Given the description of an element on the screen output the (x, y) to click on. 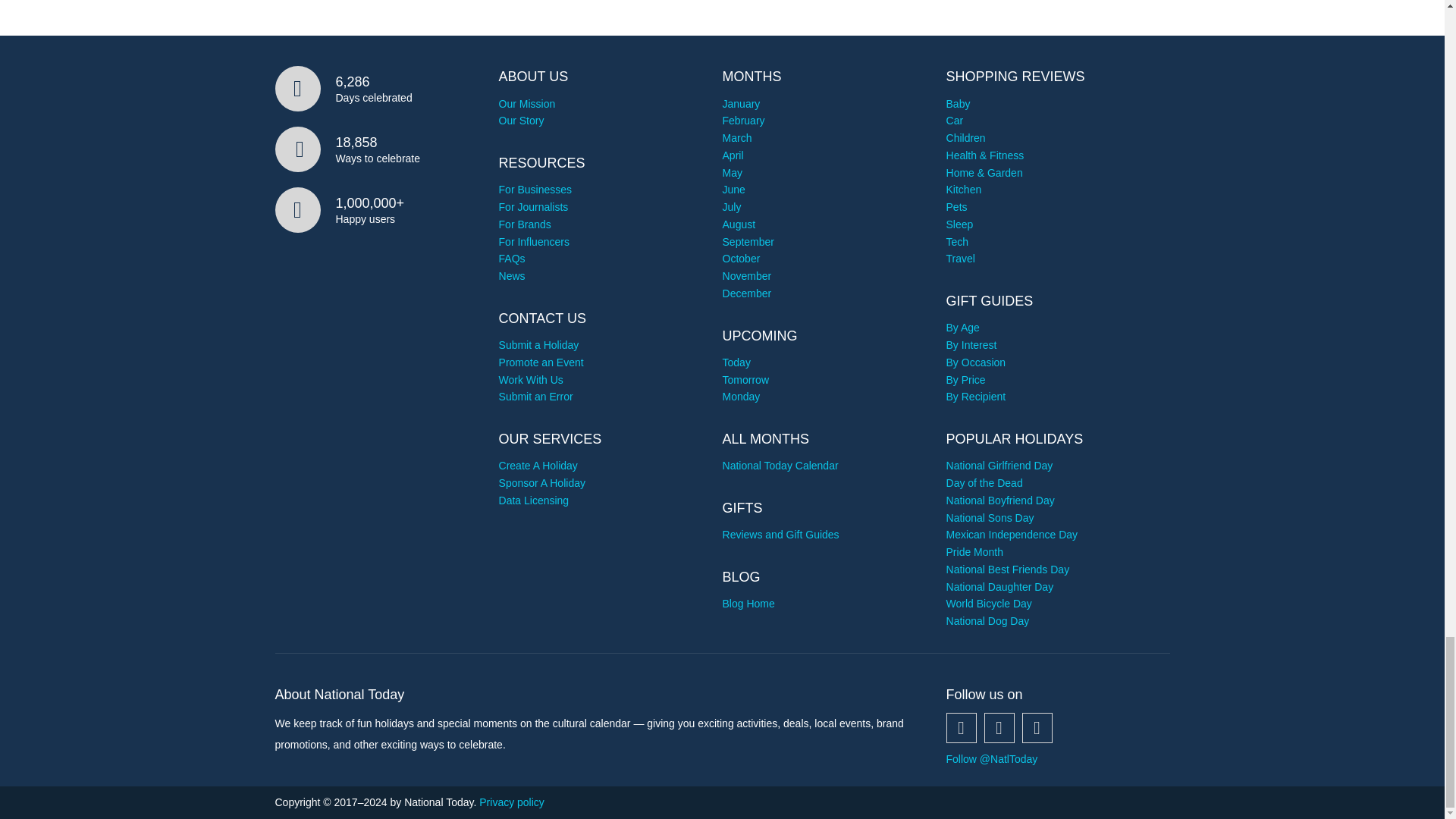
Follow us on Twitter (999, 727)
Follow us on Instagram (1037, 727)
Follow us on Facebook (961, 727)
